Given the description of an element on the screen output the (x, y) to click on. 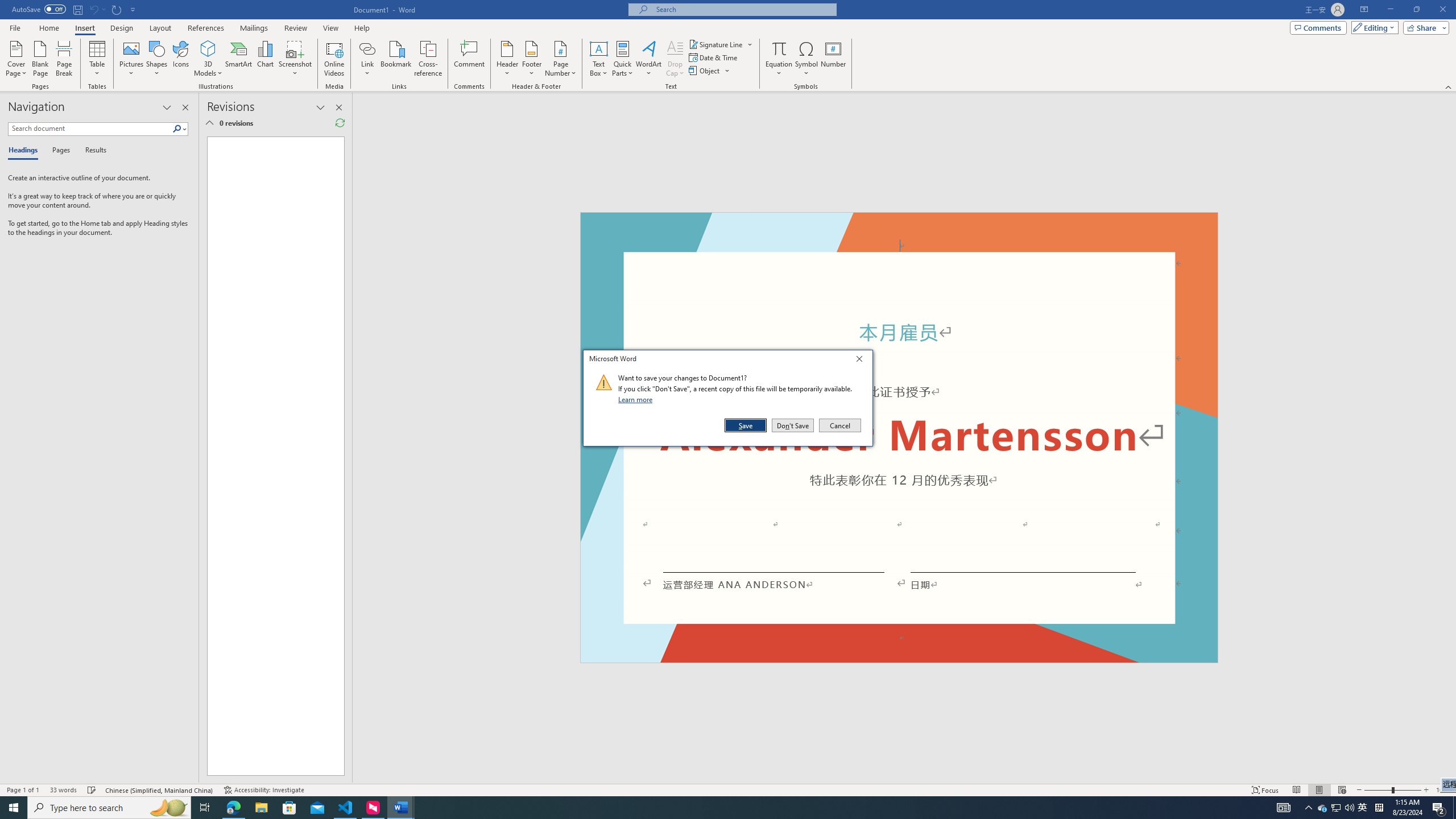
Drop Cap (674, 58)
Running applications (700, 807)
Quick Parts (622, 58)
Start (13, 807)
Save (746, 425)
Task Pane Options (167, 107)
SmartArt... (238, 58)
View (330, 28)
Show Detailed Summary (209, 122)
Microsoft Edge - 1 running window (233, 807)
Search document (89, 128)
Focus  (1265, 790)
Restore Down (1416, 9)
Chart... (265, 58)
Close pane (185, 107)
